Given the description of an element on the screen output the (x, y) to click on. 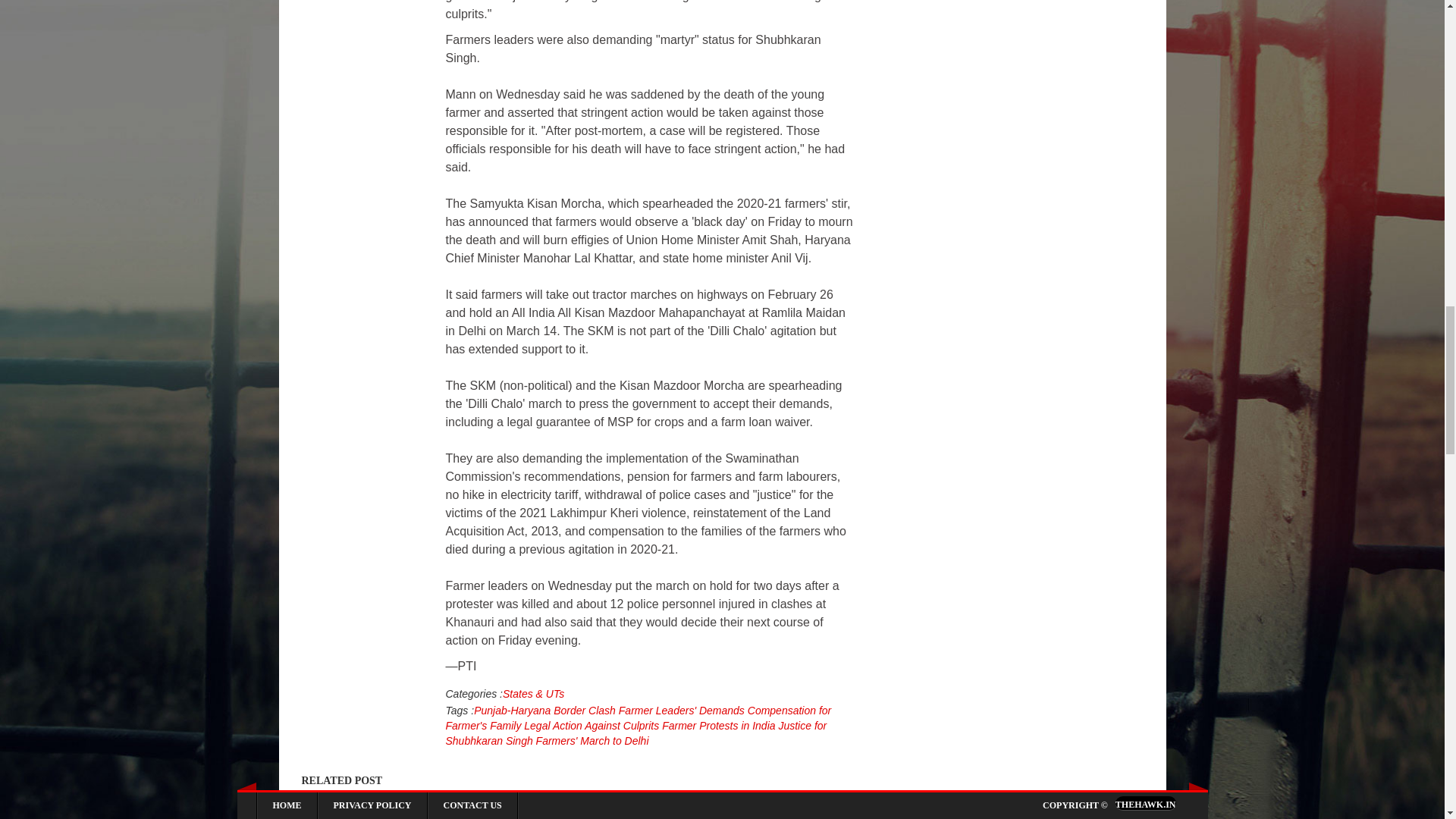
Legal Action Against Culprits (590, 725)
Clash Farmer Leaders' Demands (664, 710)
Farmers' March to Delhi (590, 740)
Punjab-Haryana Border (529, 710)
Compensation for Farmer's Family (638, 718)
Justice for Shubhkaran Singh (636, 732)
Farmer Protests in India (716, 725)
